Given the description of an element on the screen output the (x, y) to click on. 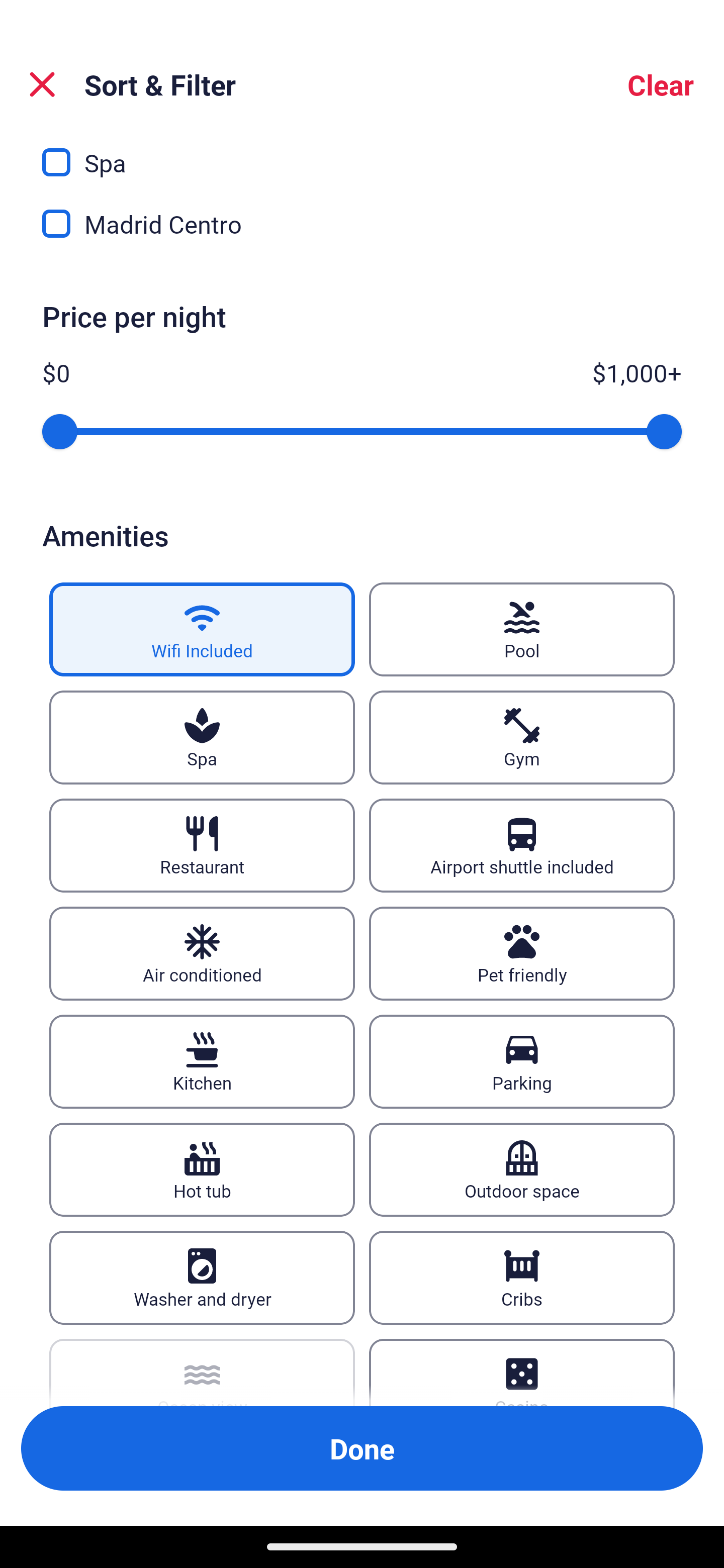
Close Sort and Filter (42, 84)
Clear (660, 84)
Spa, Spa (361, 154)
Madrid Centro, Madrid Centro (361, 223)
Wifi Included (201, 628)
Pool (521, 628)
Spa (201, 736)
Gym (521, 736)
Restaurant (201, 845)
Airport shuttle included (521, 845)
Air conditioned (201, 953)
Pet friendly (521, 953)
Kitchen (201, 1061)
Parking (521, 1061)
Hot tub (201, 1169)
Outdoor space (521, 1169)
Washer and dryer (201, 1277)
Cribs (521, 1277)
Ocean view (201, 1372)
Casino (521, 1372)
Apply and close Sort and Filter Done (361, 1448)
